Given the description of an element on the screen output the (x, y) to click on. 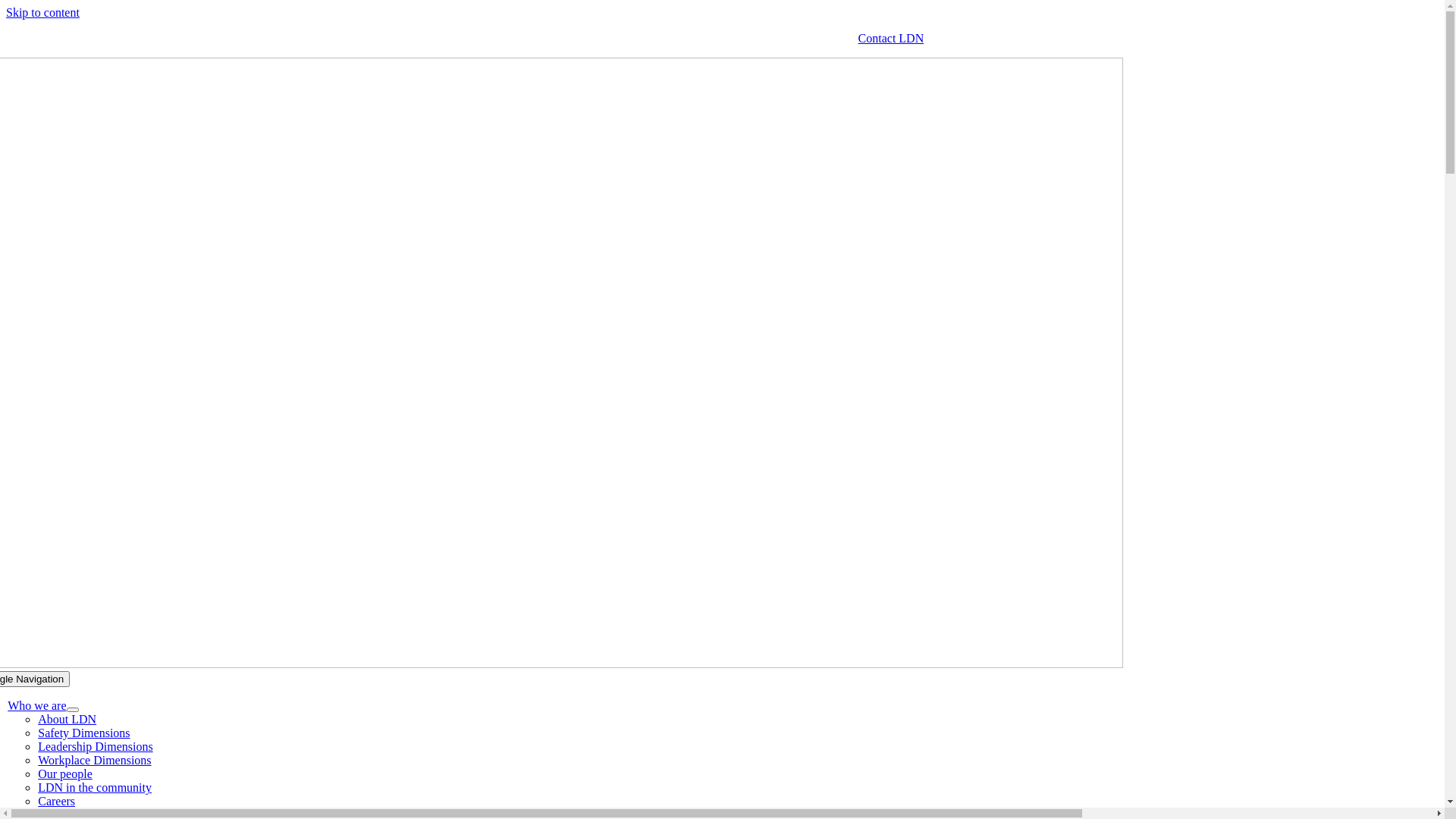
Workplace Dimensions Element type: text (93, 759)
Skip to content Element type: text (42, 12)
LDN in the community Element type: text (94, 787)
Safety Dimensions Element type: text (83, 732)
Who we are Element type: text (36, 705)
Careers Element type: text (56, 800)
About LDN Element type: text (66, 718)
Our people Element type: text (64, 773)
Contact LDN Element type: text (891, 37)
Leadership Dimensions Element type: text (95, 746)
